Given the description of an element on the screen output the (x, y) to click on. 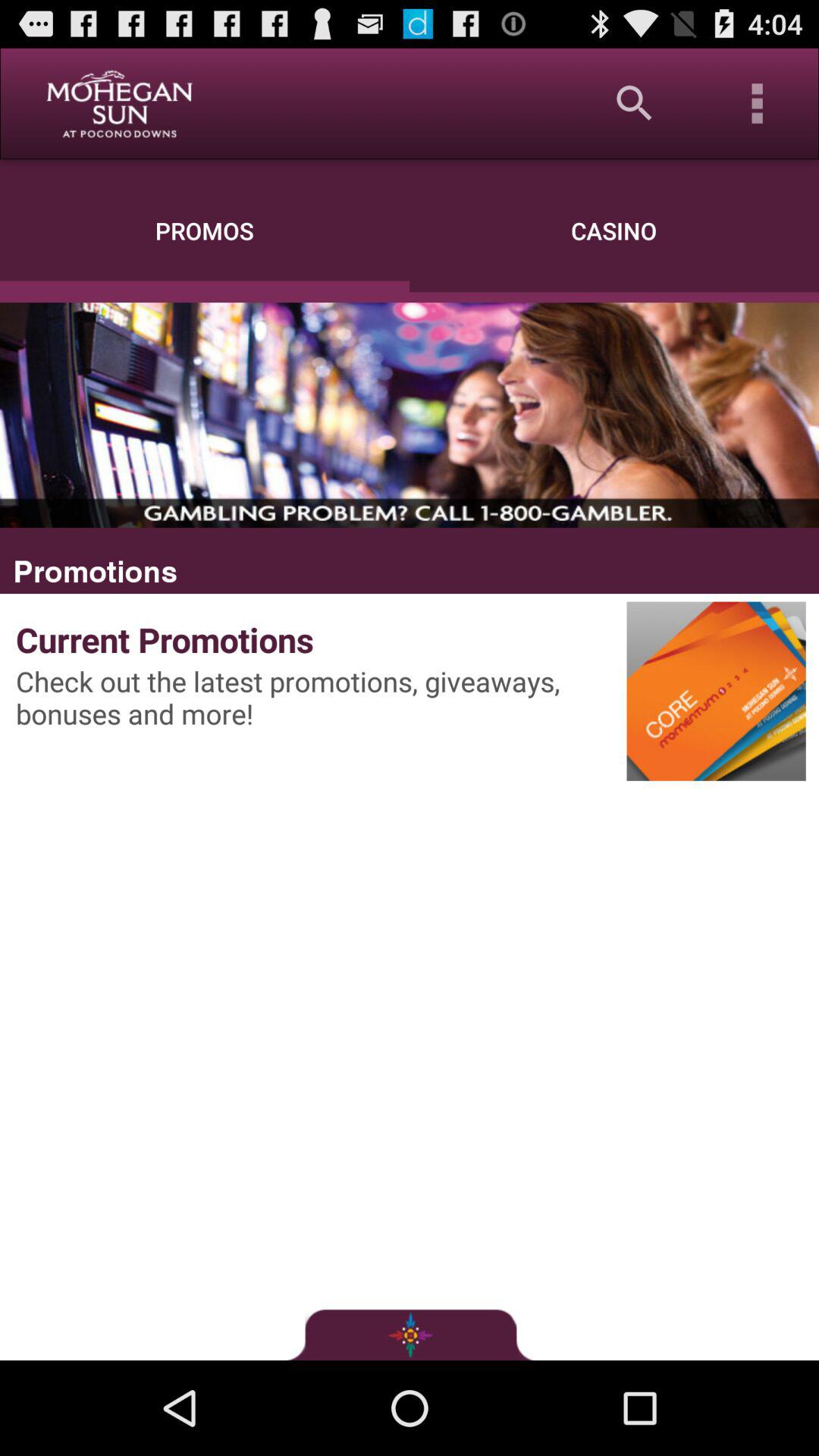
open menu (757, 103)
